Given the description of an element on the screen output the (x, y) to click on. 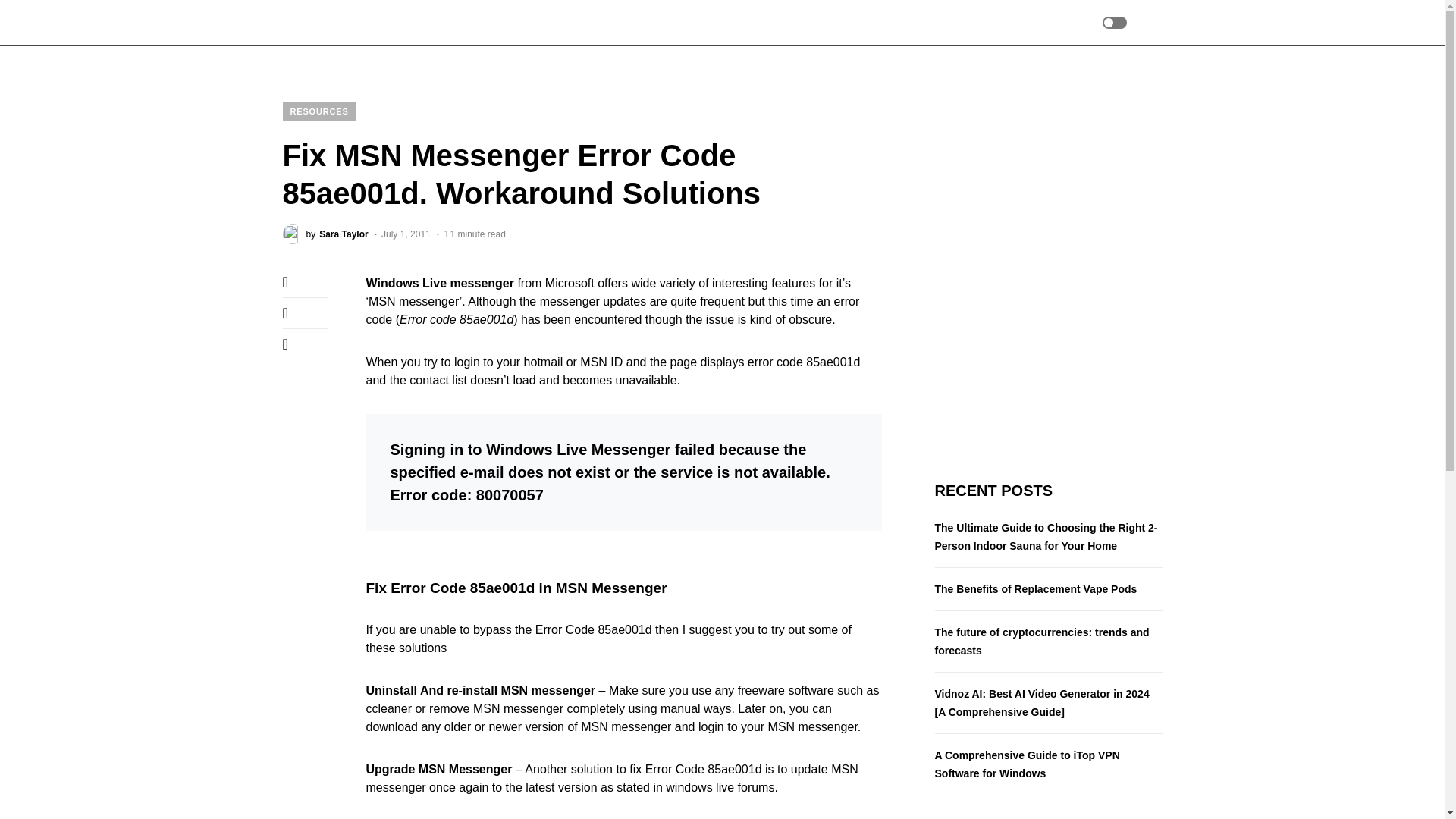
GUIDES (707, 22)
HOW TO (647, 22)
View all posts by Sara Taylor (325, 234)
CONTACT US (325, 234)
RESOURCES (777, 22)
